Given the description of an element on the screen output the (x, y) to click on. 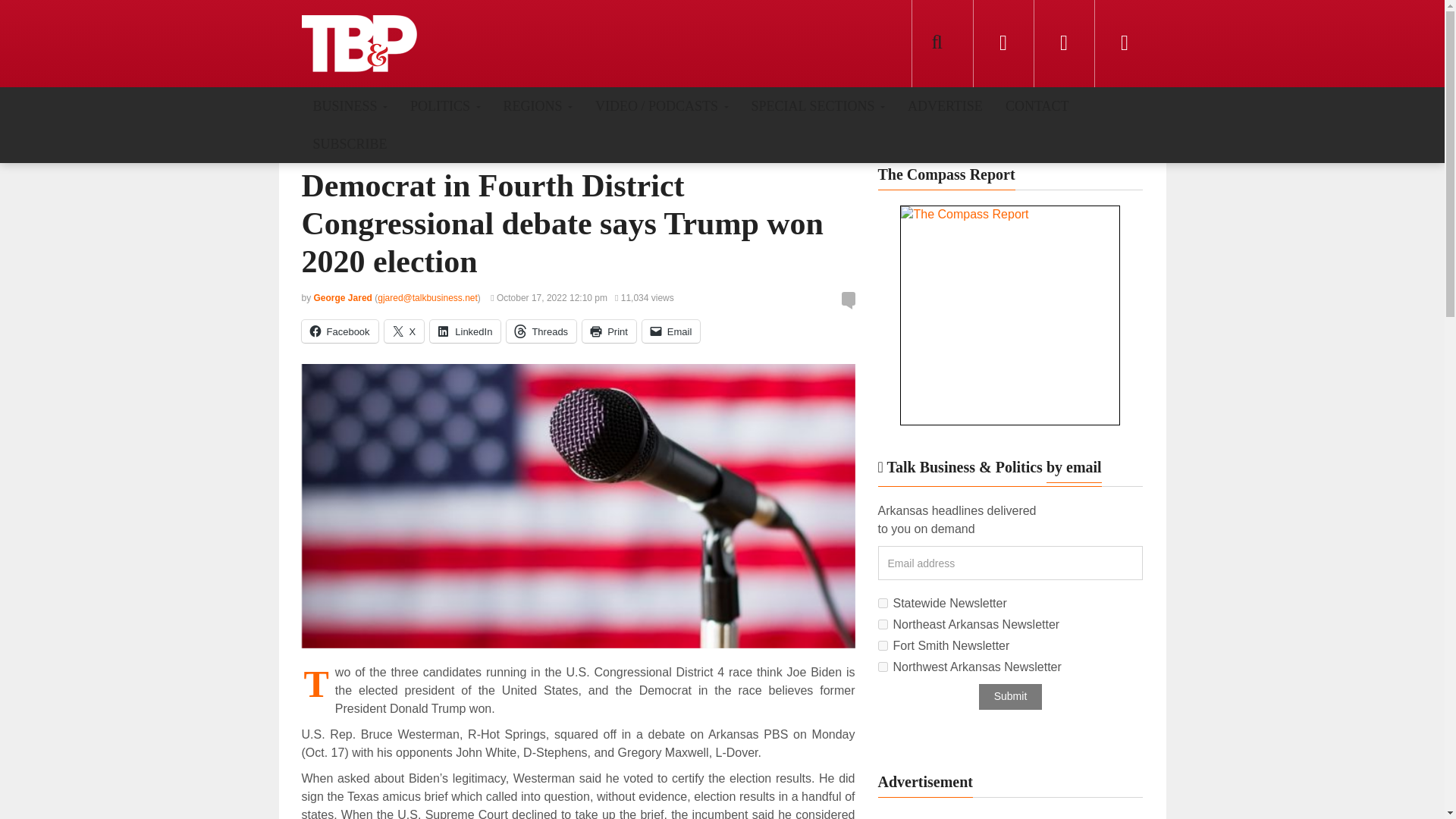
bfd07a2f6a (882, 645)
Click to print (609, 331)
BUSINESS (349, 105)
Click to share on Facebook (339, 331)
0dbc242577 (882, 624)
536baa6e11 (882, 666)
POLITICS (445, 105)
Click to share on X (404, 331)
Click to share on LinkedIn (464, 331)
a8cb0d3206 (882, 603)
Click to email a link to a friend (671, 331)
Click to share on Threads (541, 331)
